Given the description of an element on the screen output the (x, y) to click on. 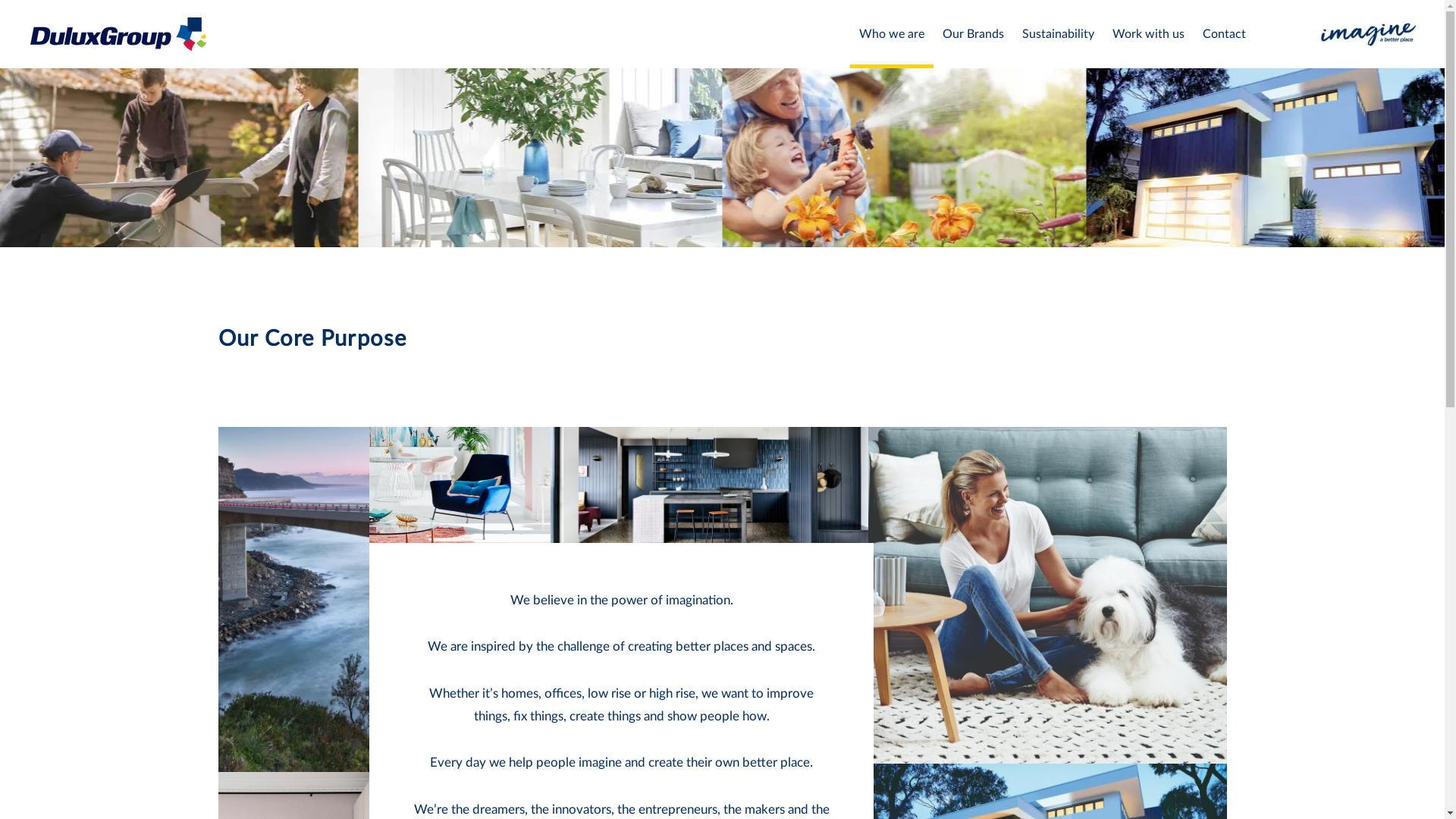
Contact Element type: text (1224, 34)
Our Brands Element type: text (973, 34)
Work with us Element type: text (1148, 34)
Sustainability Element type: text (1058, 34)
Who we are Element type: text (891, 34)
